Given the description of an element on the screen output the (x, y) to click on. 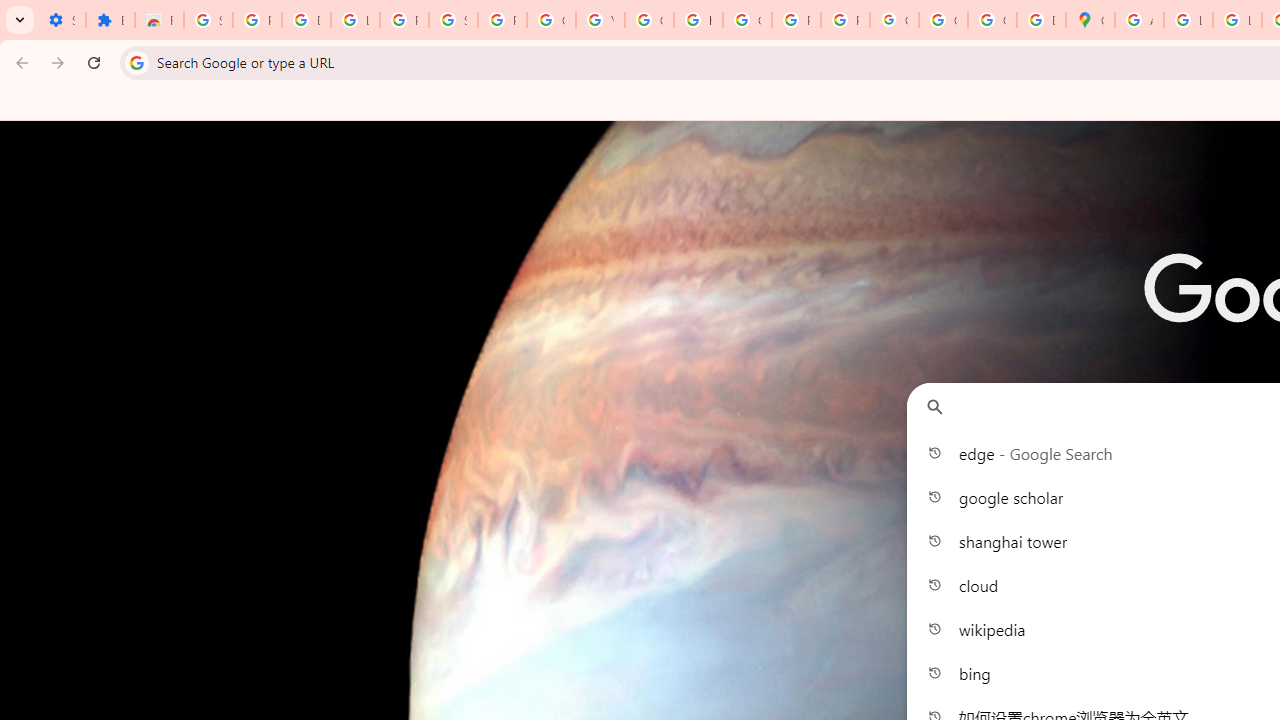
Extensions (109, 20)
YouTube (600, 20)
Reviews: Helix Fruit Jump Arcade Game (159, 20)
Google Account (551, 20)
Sign in - Google Accounts (208, 20)
https://scholar.google.com/ (698, 20)
Delete photos & videos - Computer - Google Photos Help (306, 20)
